Given the description of an element on the screen output the (x, y) to click on. 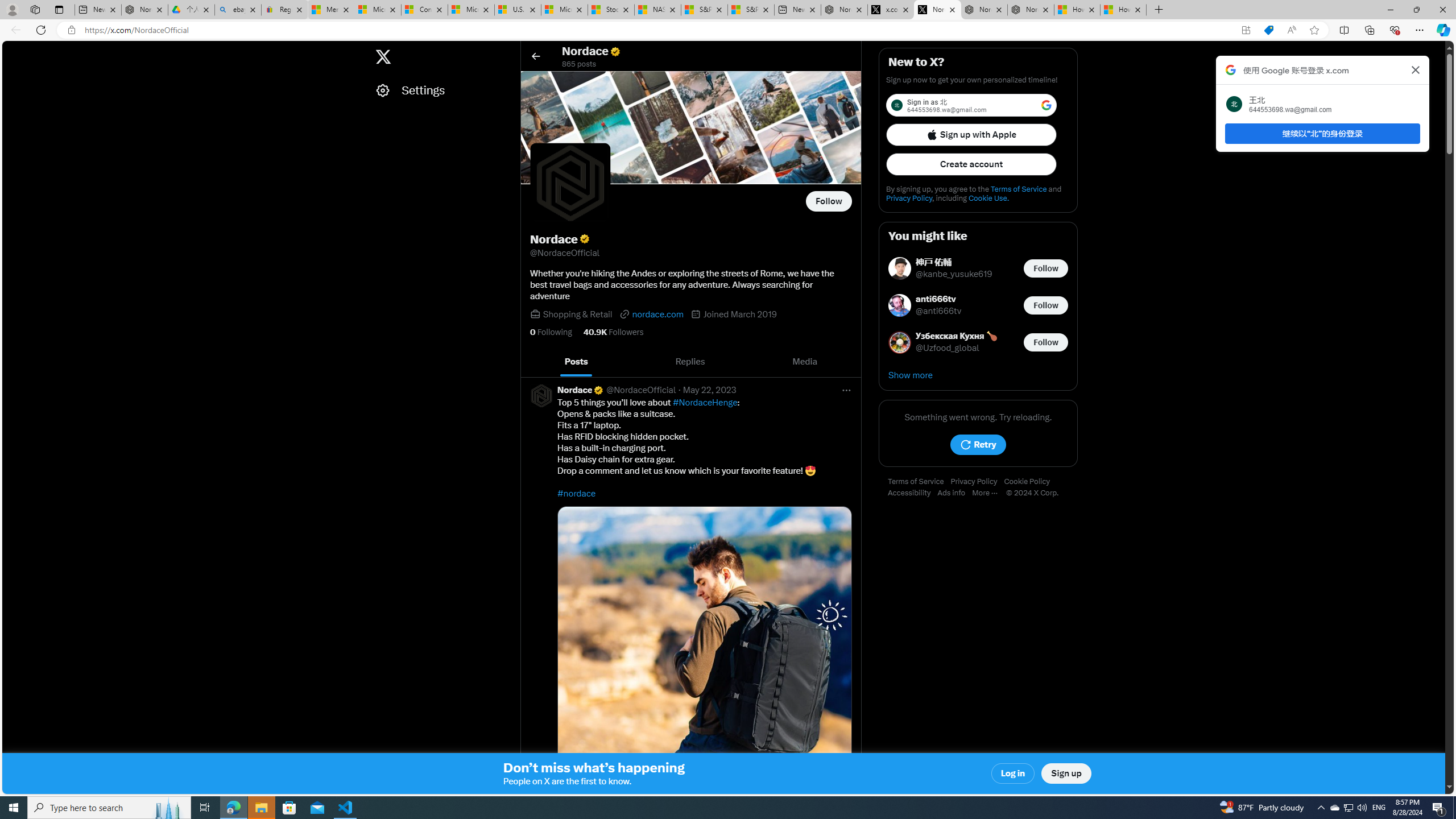
Skip to trending (12, 50)
Register: Create a personal eBay account (284, 9)
nordace.com (651, 313)
Provides details about verified accounts. (583, 238)
Log in (1013, 773)
@anti666tv (938, 311)
